Given the description of an element on the screen output the (x, y) to click on. 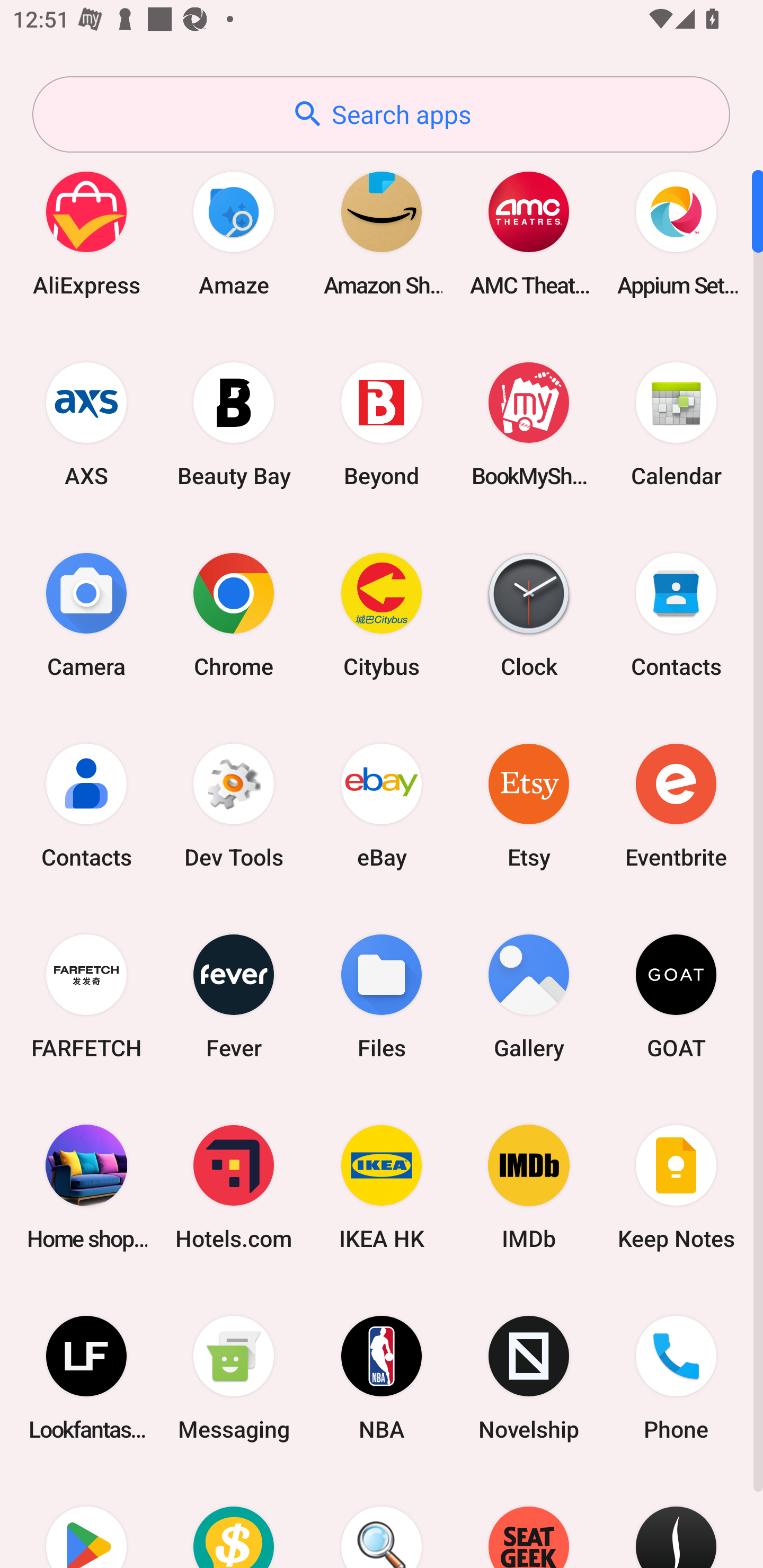
  Search apps (381, 114)
AliExpress (86, 233)
Amaze (233, 233)
Amazon Shopping (381, 233)
AMC Theatres (528, 233)
Appium Settings (676, 233)
AXS (86, 424)
Beauty Bay (233, 424)
Beyond (381, 424)
BookMyShow (528, 424)
Calendar (676, 424)
Camera (86, 614)
Chrome (233, 614)
Citybus (381, 614)
Clock (528, 614)
Contacts (676, 614)
Contacts (86, 805)
Dev Tools (233, 805)
eBay (381, 805)
Etsy (528, 805)
Eventbrite (676, 805)
FARFETCH (86, 996)
Fever (233, 996)
Files (381, 996)
Gallery (528, 996)
GOAT (676, 996)
Home shopping (86, 1186)
Hotels.com (233, 1186)
IKEA HK (381, 1186)
IMDb (528, 1186)
Keep Notes (676, 1186)
Lookfantastic (86, 1377)
Messaging (233, 1377)
NBA (381, 1377)
Novelship (528, 1377)
Phone (676, 1377)
